Given the description of an element on the screen output the (x, y) to click on. 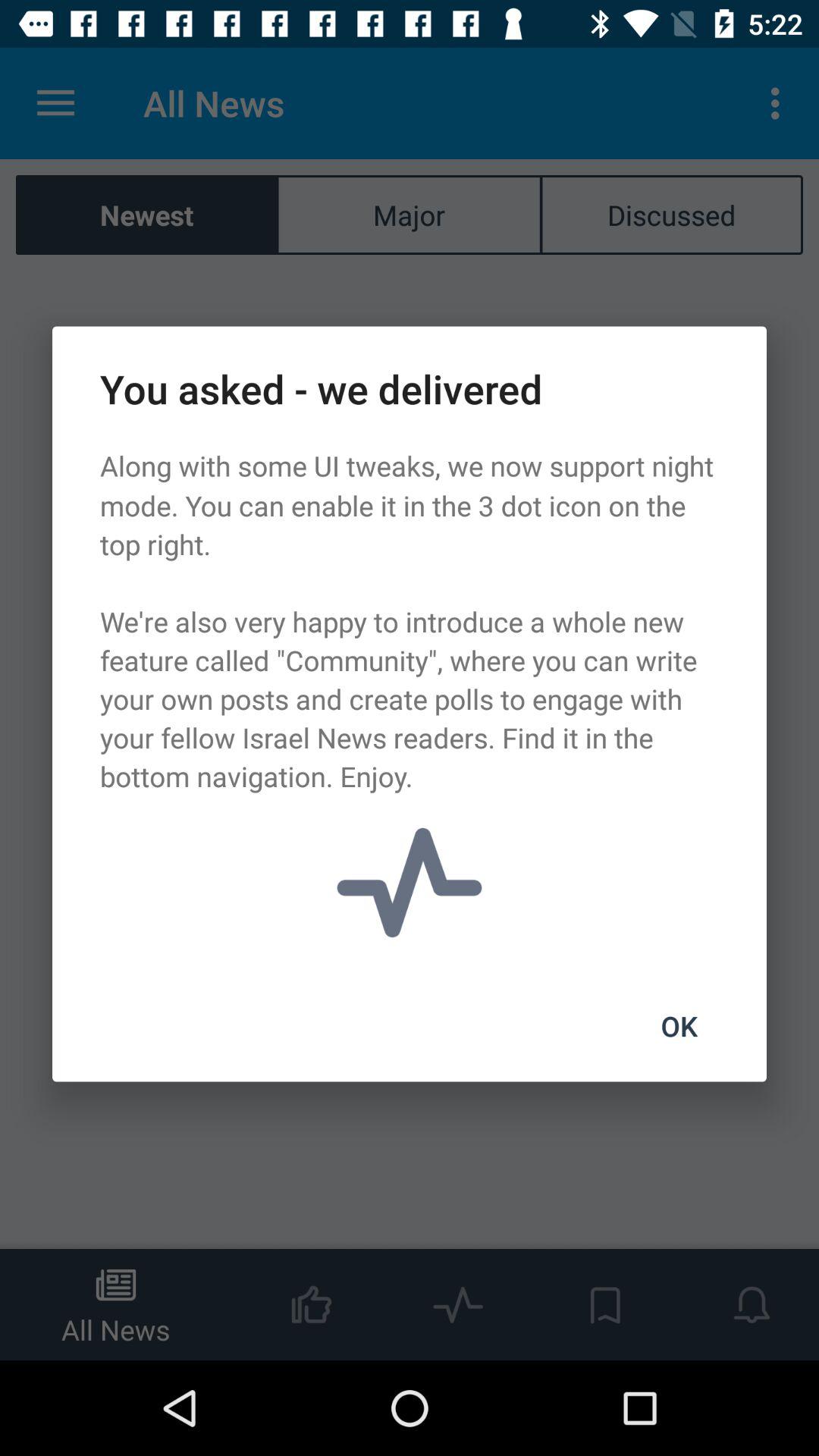
flip to ok (678, 1025)
